Given the description of an element on the screen output the (x, y) to click on. 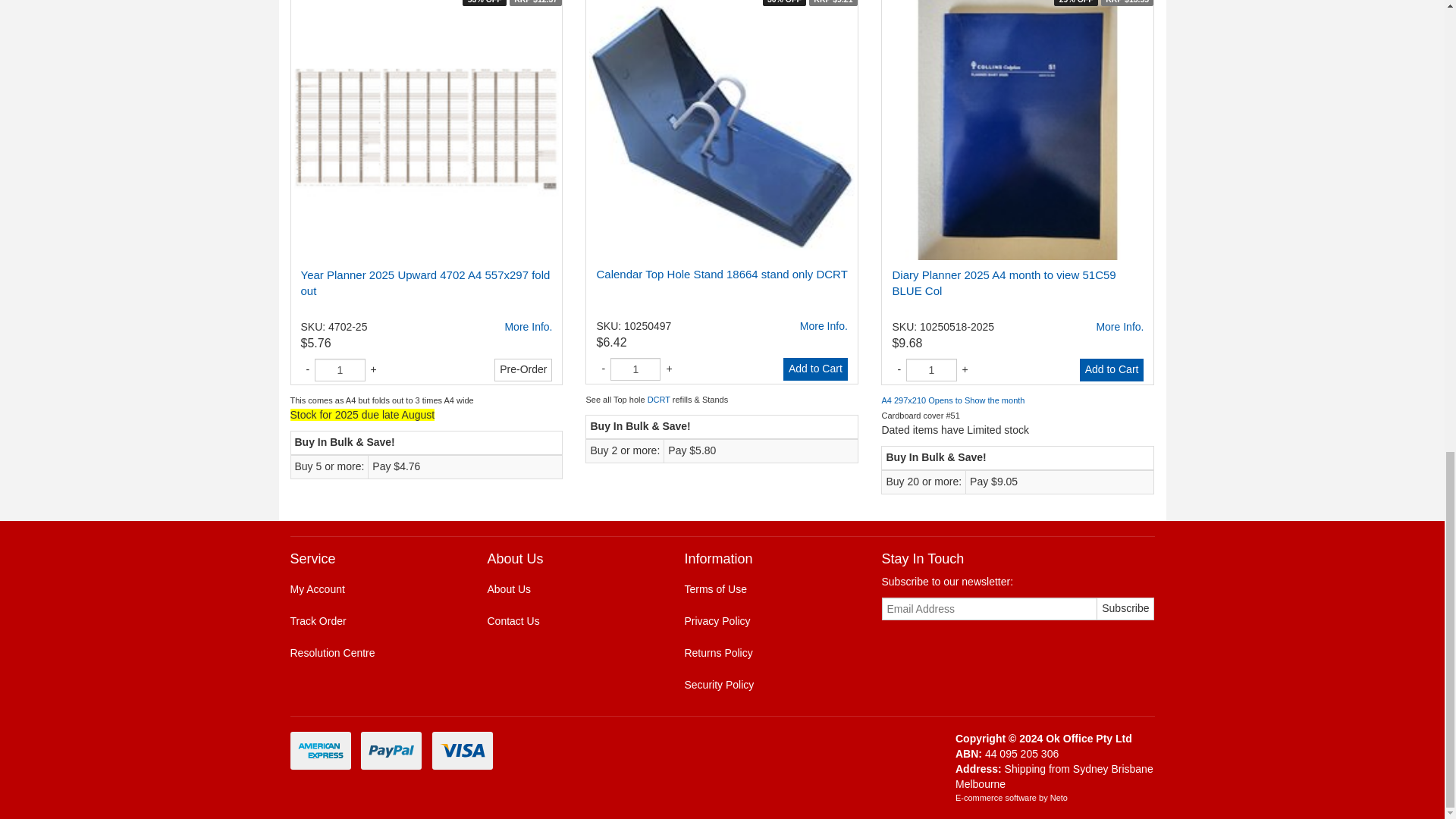
Pre-Order Now! (523, 369)
1 (635, 368)
Subscribe (1125, 608)
Calendar Top Hole Stand 18664 stand only DCRT (721, 273)
Calendar Top Hole Stand 18664 stand only DCRT (823, 326)
1 (339, 369)
1 (930, 369)
Add to Cart (1112, 369)
Add to Cart (815, 368)
